Given the description of an element on the screen output the (x, y) to click on. 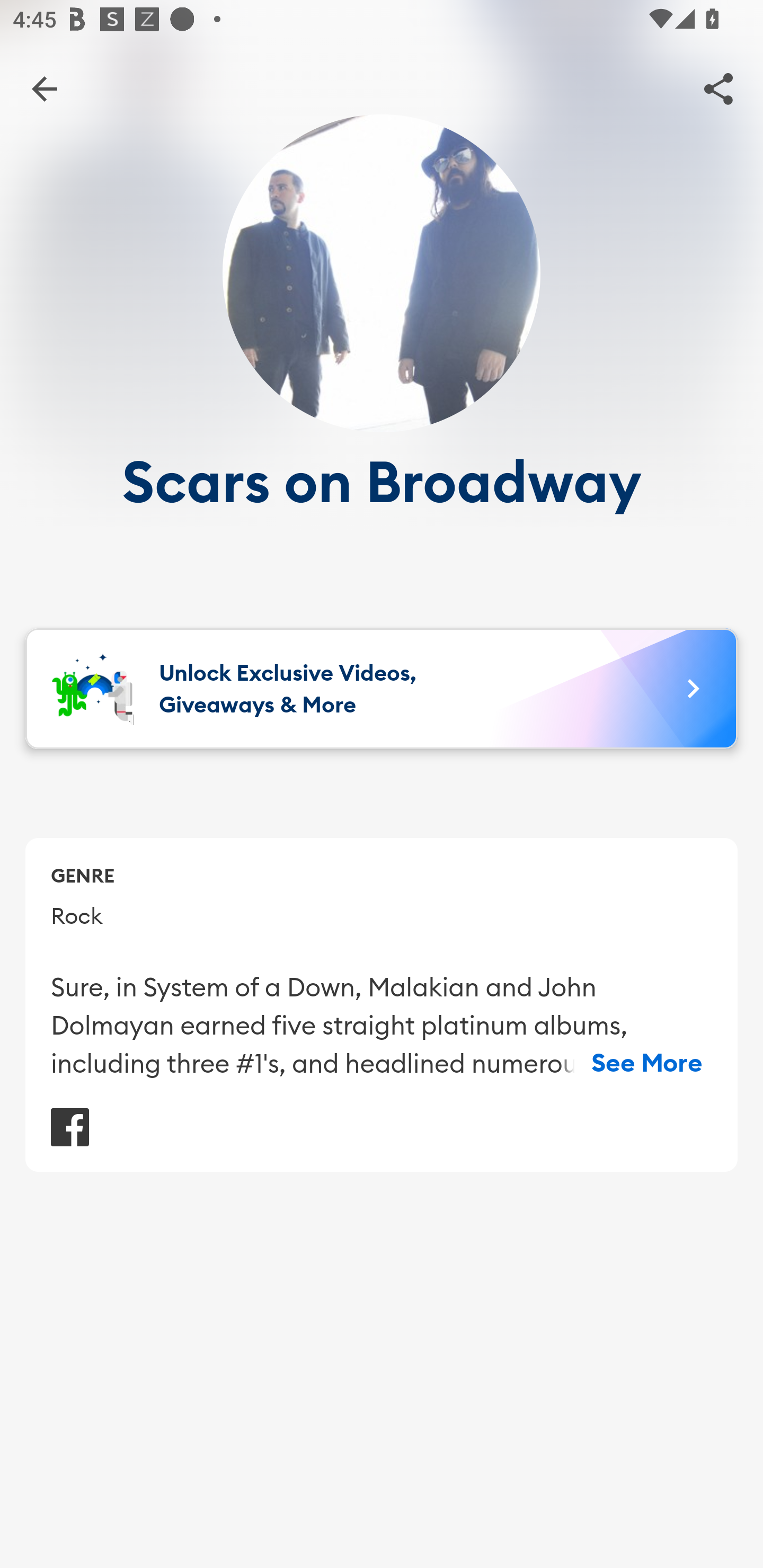
BackButton (44, 88)
Share (718, 88)
Unlock Exclusive Videos,
Giveaways & More (381, 688)
See More (646, 1062)
